Given the description of an element on the screen output the (x, y) to click on. 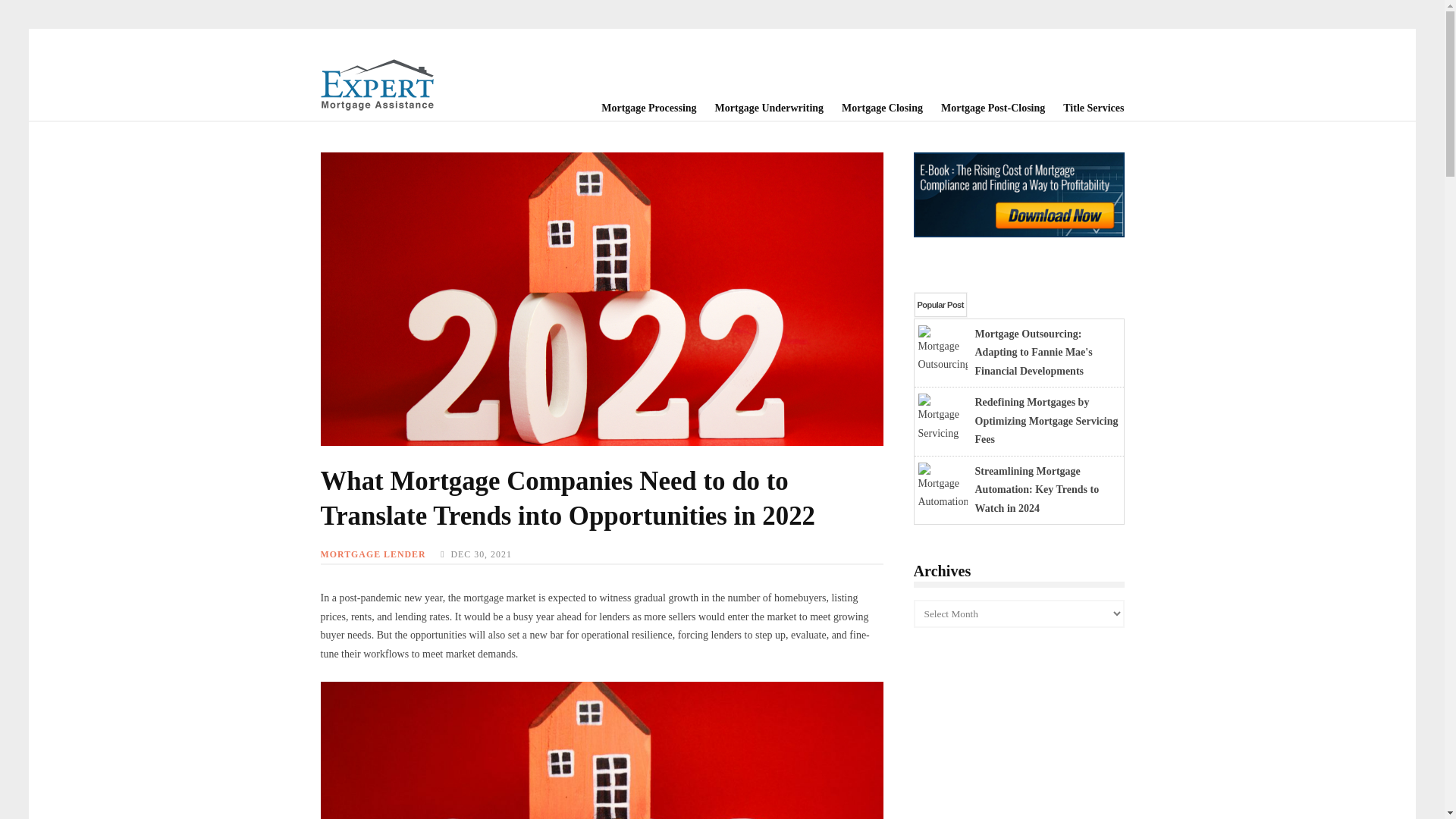
Mortgage closing (873, 108)
Mortgage Post-Closing (984, 108)
MORTGAGE LENDER (372, 553)
Mortgage Post closing (984, 108)
Mortgage Loan processing (639, 108)
Mortgage Closing (873, 108)
Mortgage Underwriting (760, 108)
Mortgage Underwriting (760, 108)
